Given the description of an element on the screen output the (x, y) to click on. 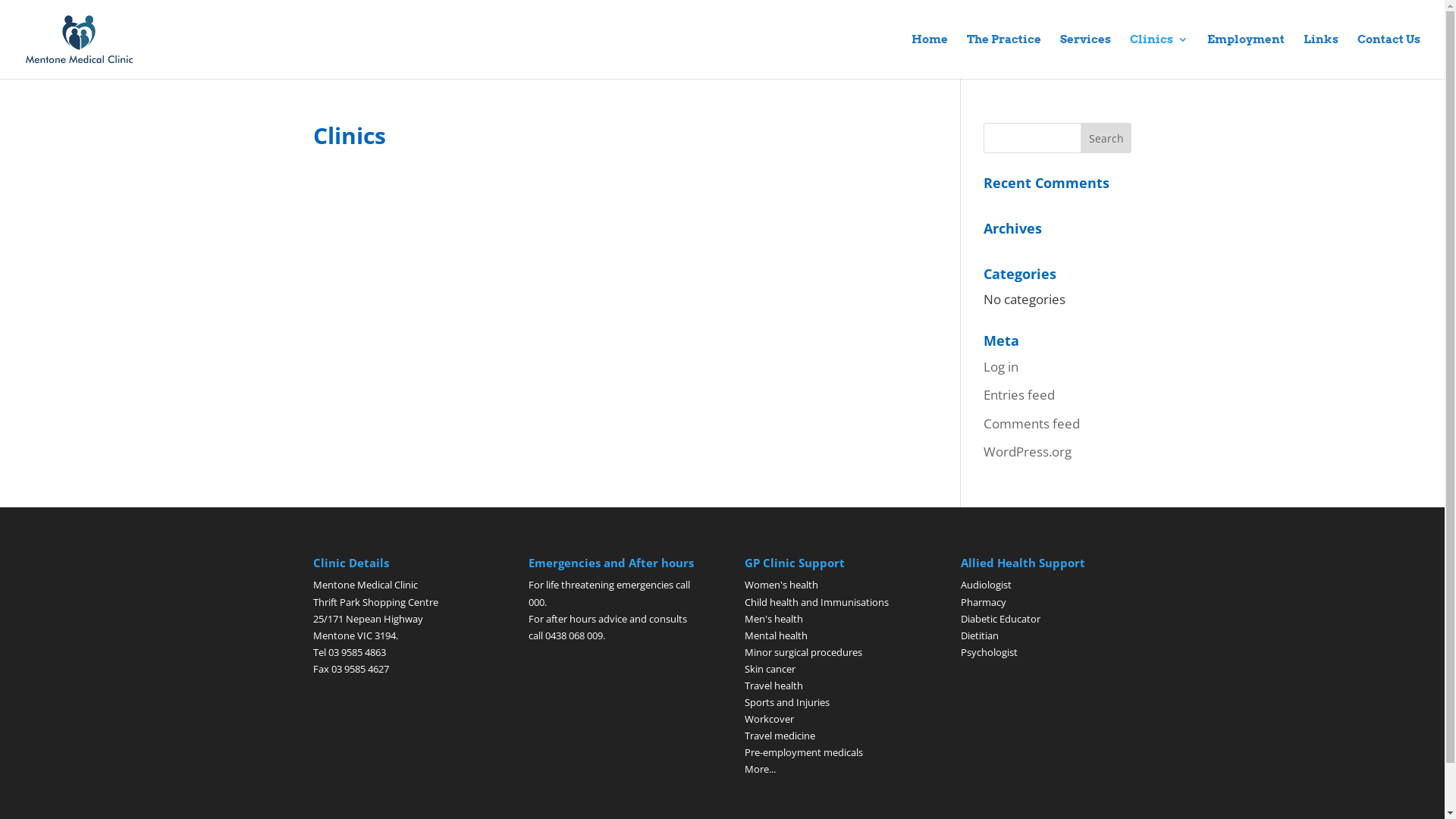
Entries feed Element type: text (1018, 394)
More... Element type: text (759, 768)
Employment Element type: text (1245, 56)
Home Element type: text (929, 56)
The Practice Element type: text (1003, 56)
WordPress.org Element type: text (1027, 451)
Search Element type: text (1106, 137)
Links Element type: text (1320, 56)
Contact Us Element type: text (1388, 56)
Clinics Element type: text (1158, 56)
Services Element type: text (1085, 56)
Comments feed Element type: text (1031, 423)
Log in Element type: text (1000, 366)
